Given the description of an element on the screen output the (x, y) to click on. 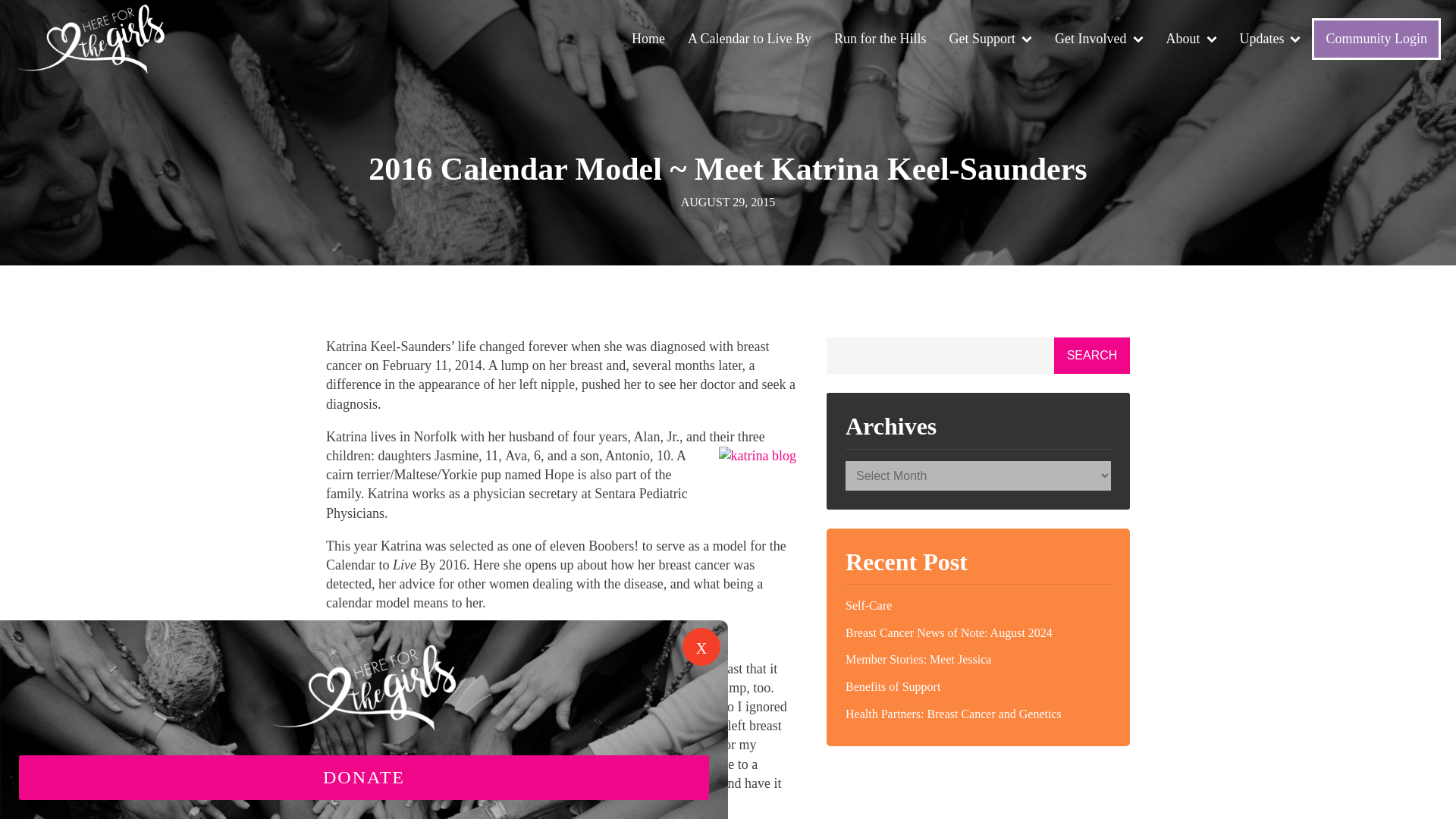
Self-Care (977, 605)
Health Partners: Breast Cancer and Genetics (977, 714)
Updates (1270, 38)
About (1190, 38)
A Calendar to Live By (749, 38)
Get Support (990, 38)
About (1190, 38)
Community Login (1376, 38)
Community Login (1376, 38)
Home (648, 38)
